Given the description of an element on the screen output the (x, y) to click on. 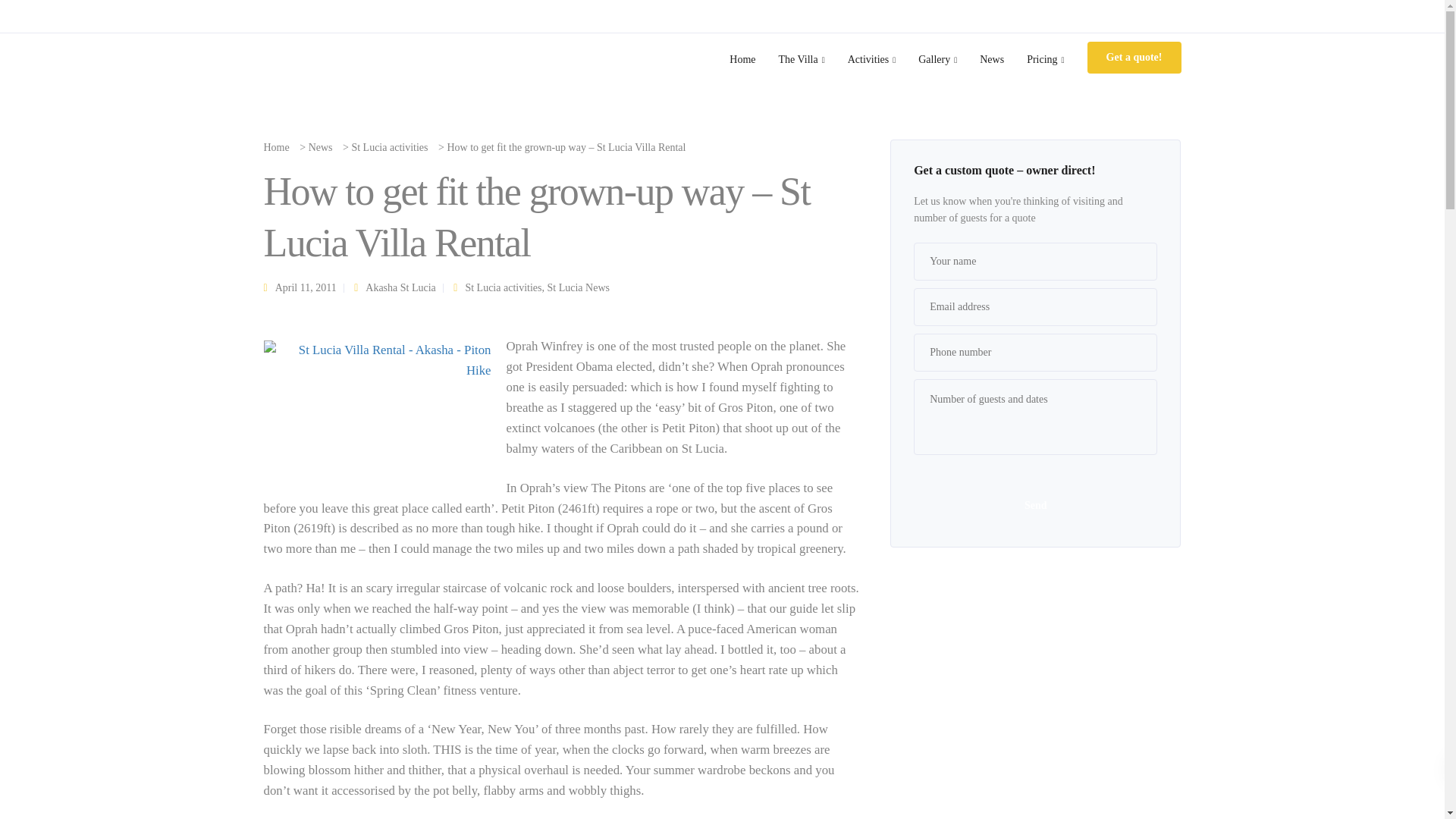
St Lucia activities (389, 147)
News (991, 59)
Gallery (937, 59)
Home (742, 59)
The Villa (801, 59)
St Lucia activities (502, 287)
Home (742, 59)
News (320, 147)
Akasha St Lucia (400, 287)
Search (13, 12)
